Given the description of an element on the screen output the (x, y) to click on. 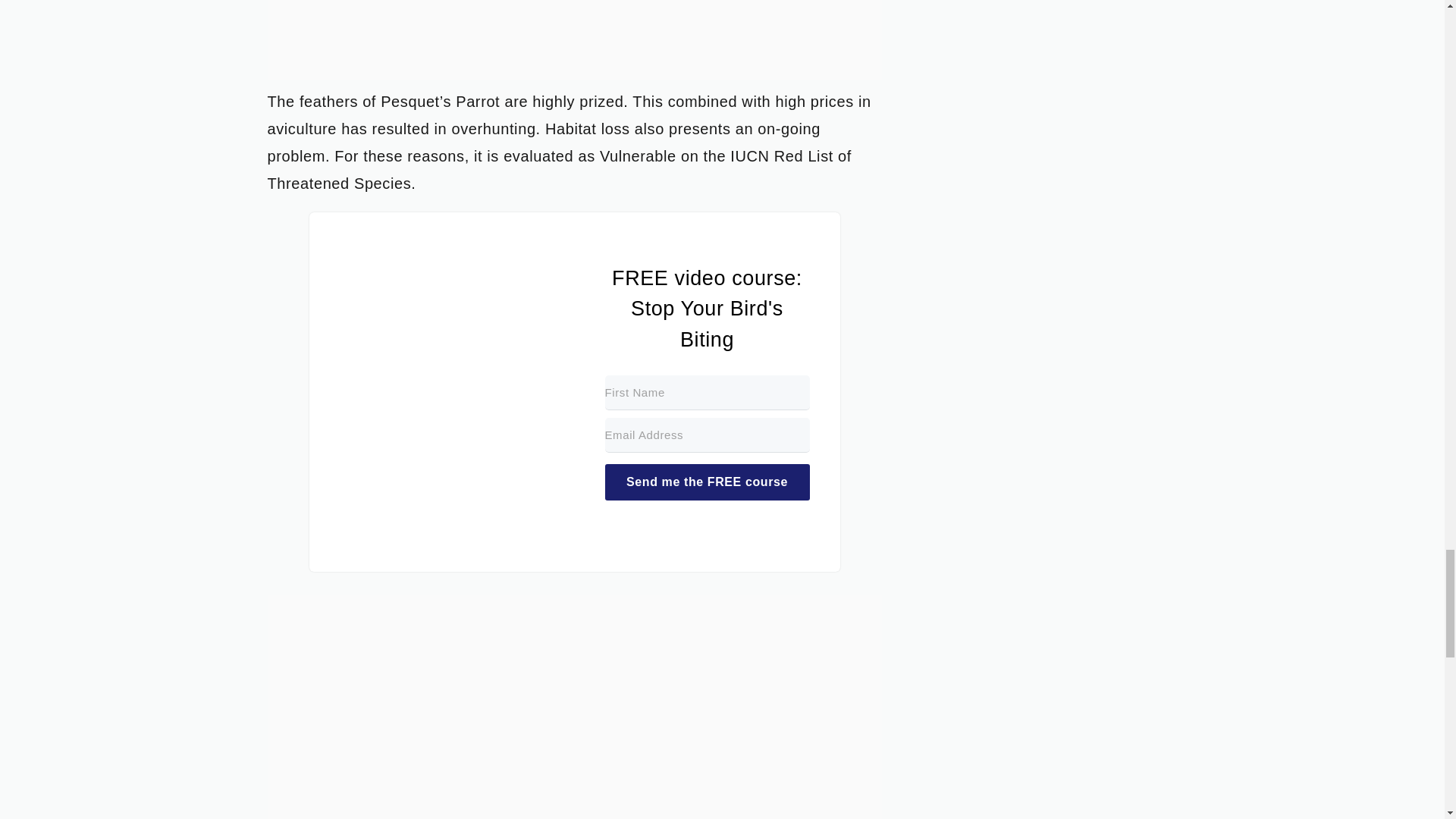
Send me the FREE course (707, 482)
